Given the description of an element on the screen output the (x, y) to click on. 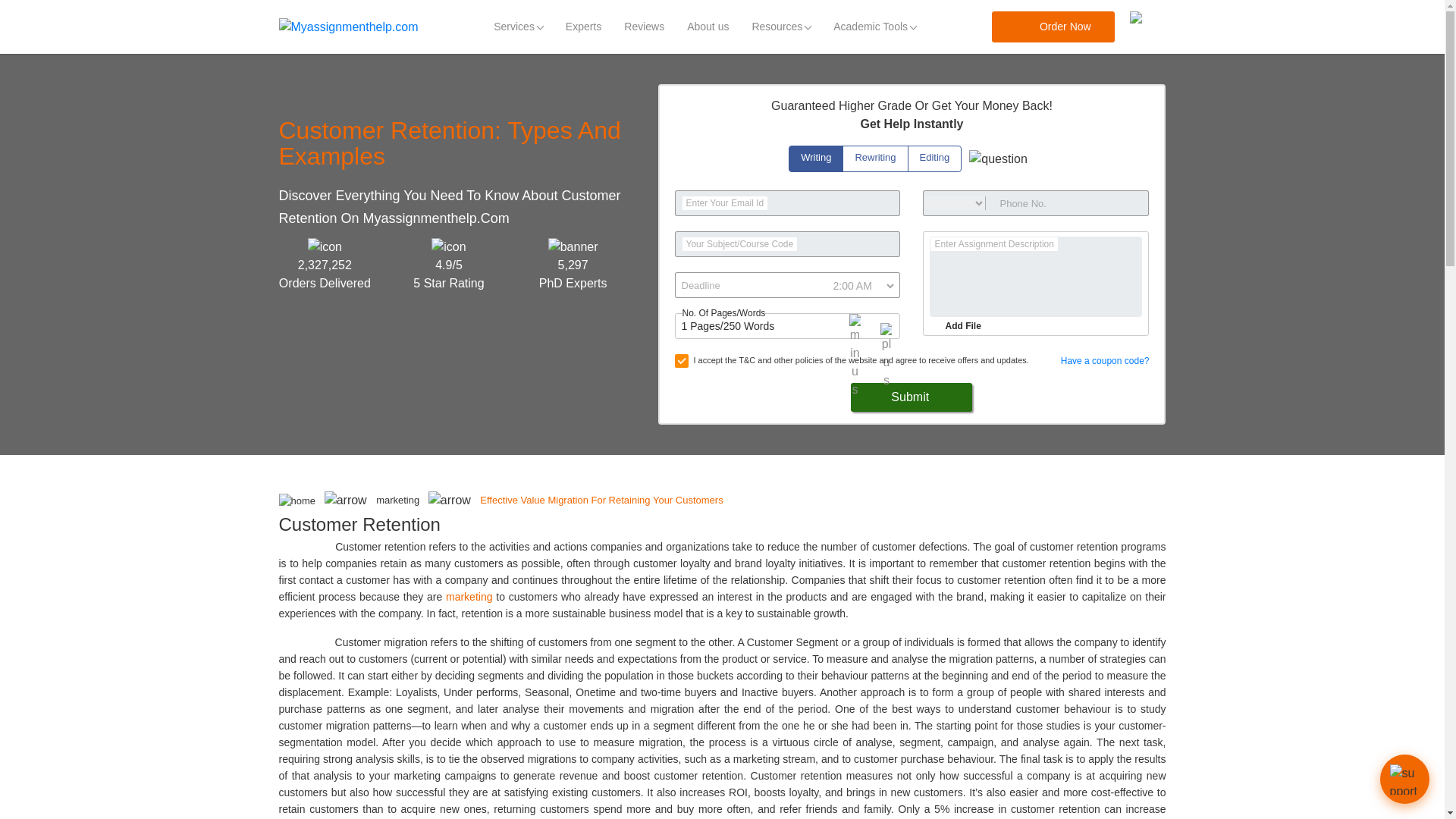
Services (517, 26)
Info (998, 158)
menu (1147, 26)
